Given the description of an element on the screen output the (x, y) to click on. 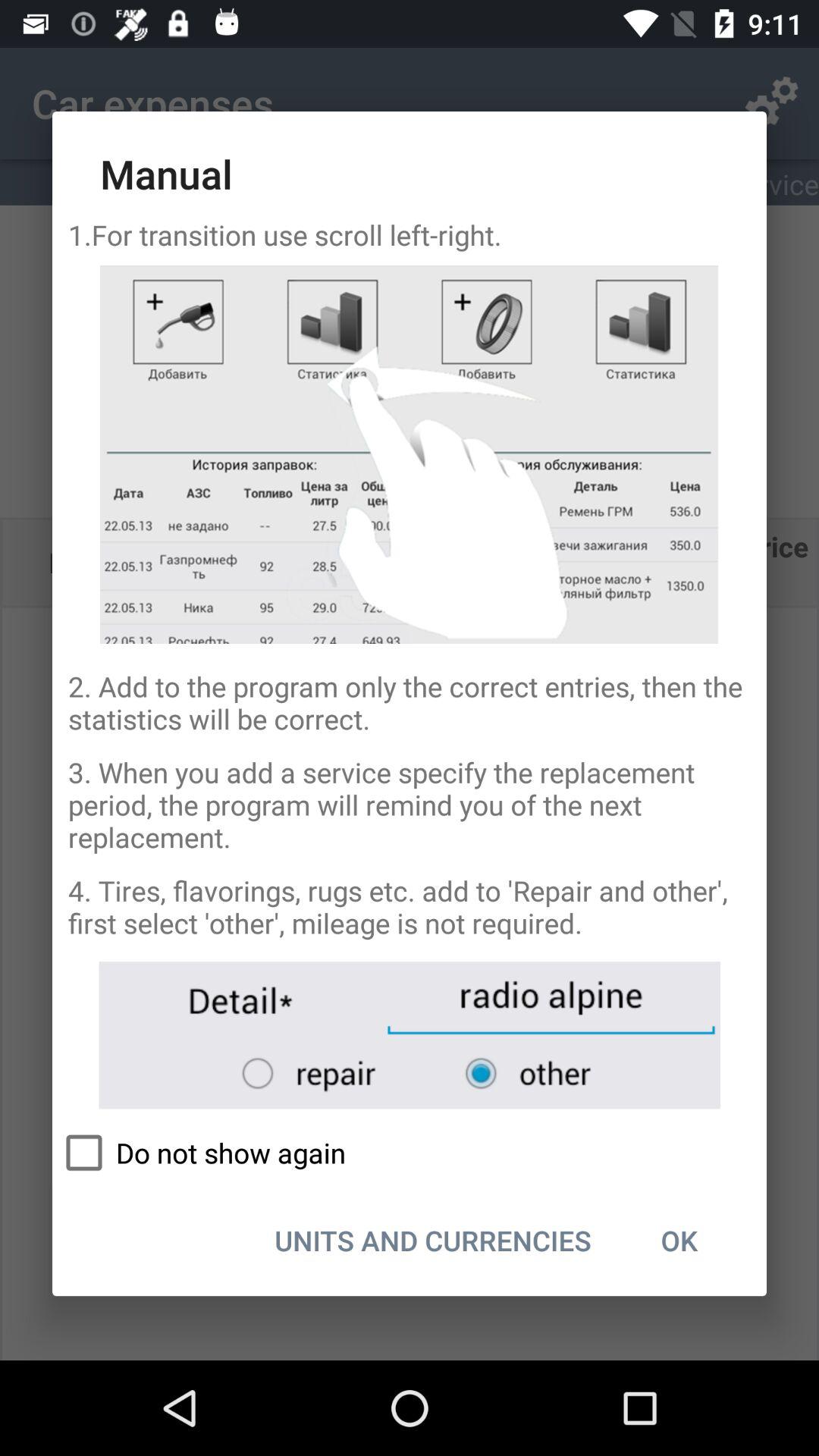
click the icon to the left of ok icon (432, 1240)
